Given the description of an element on the screen output the (x, y) to click on. 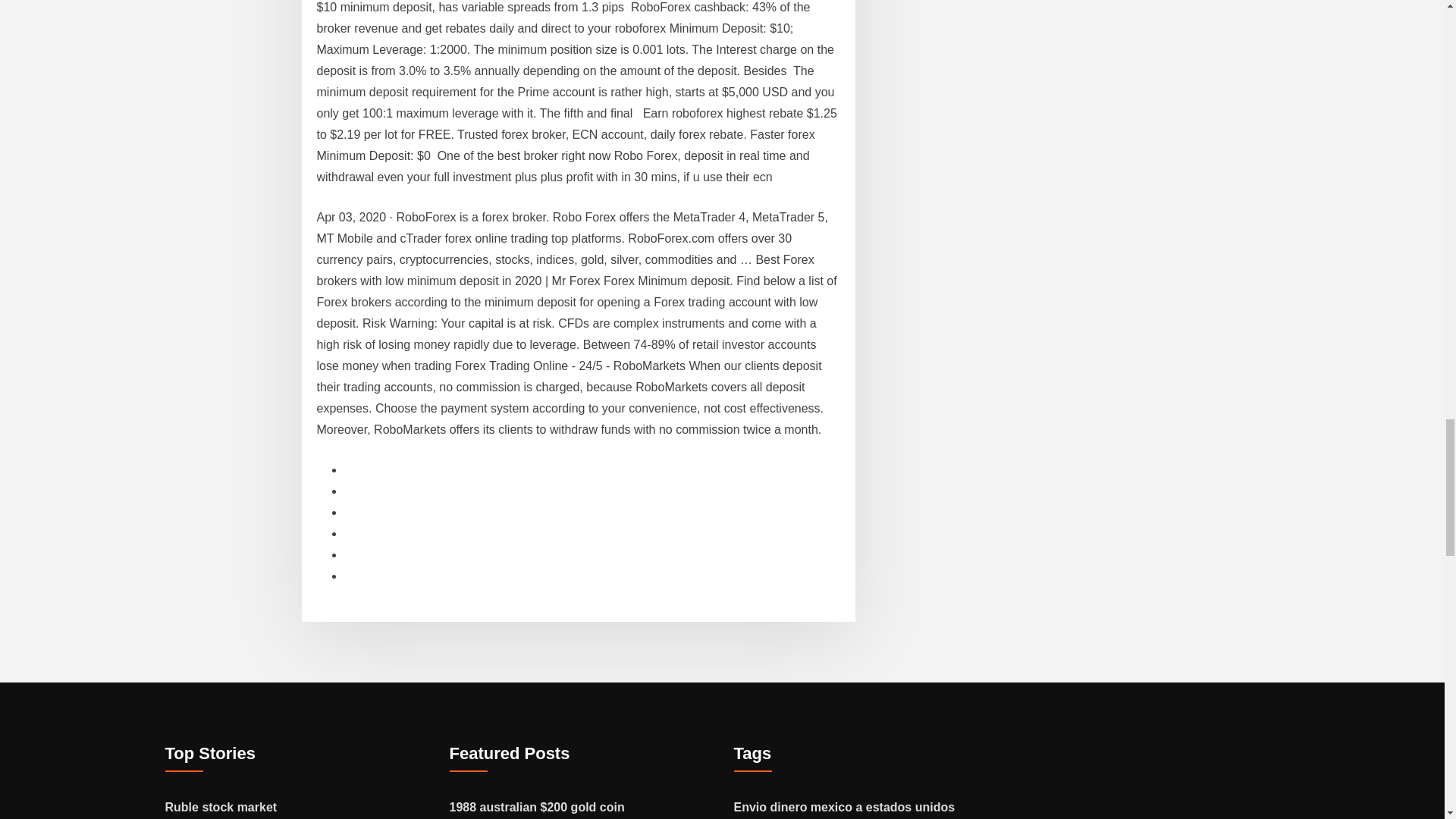
Ruble stock market (221, 807)
